Given the description of an element on the screen output the (x, y) to click on. 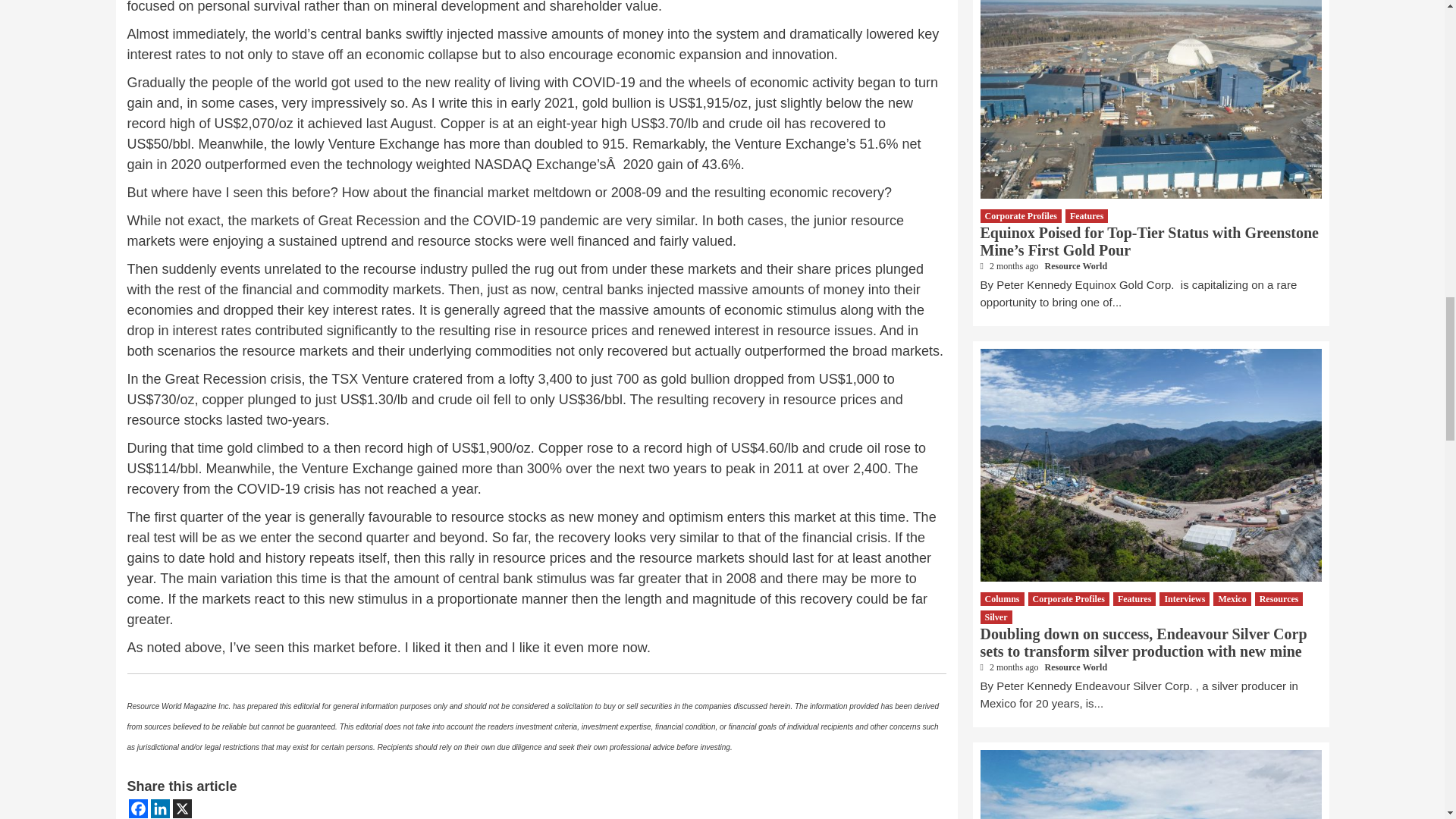
Facebook (138, 808)
X (182, 808)
Linkedin (158, 808)
